Given the description of an element on the screen output the (x, y) to click on. 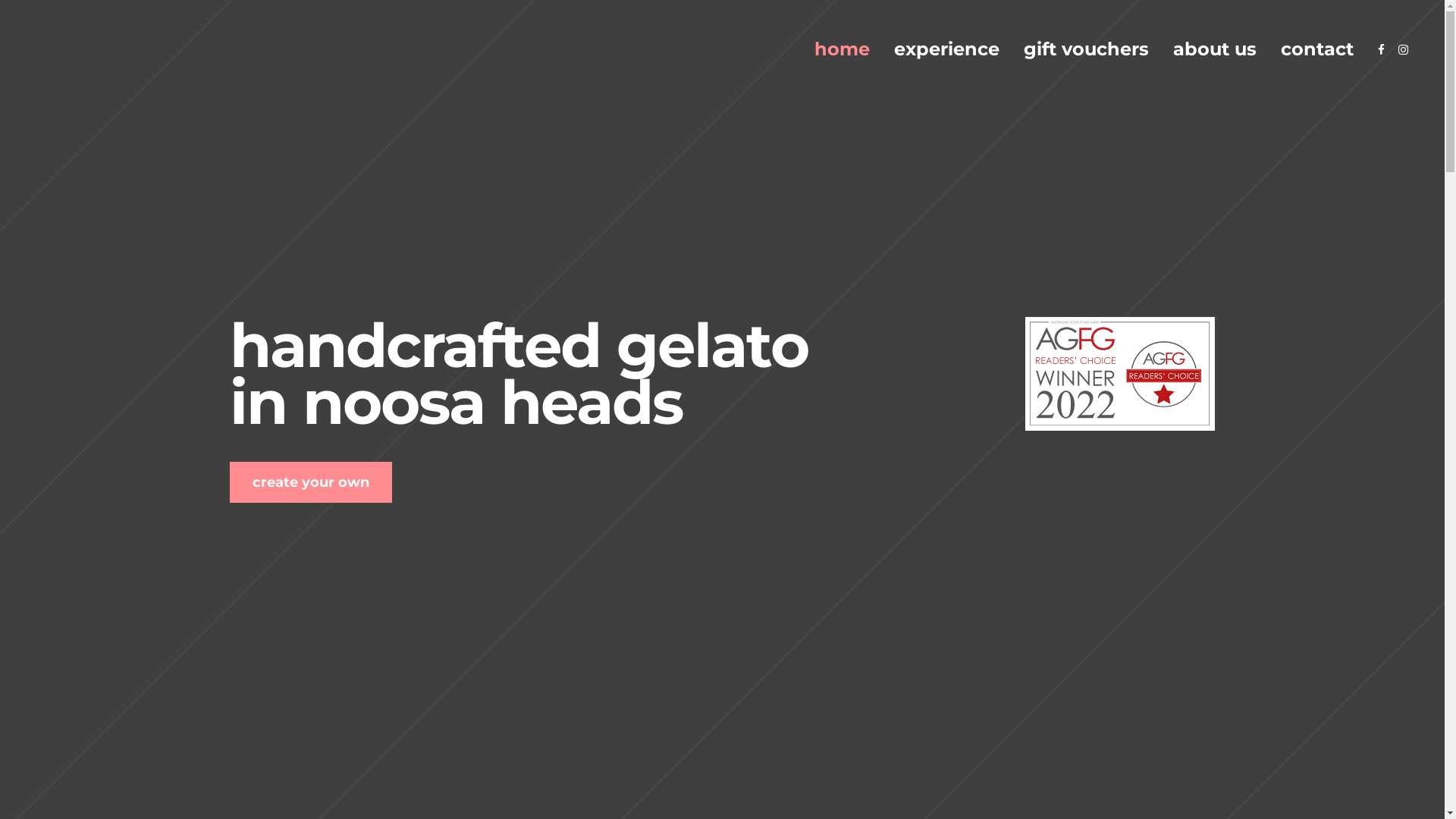
gift vouchers Element type: text (1086, 49)
create your own Element type: text (310, 481)
experience Element type: text (946, 49)
about us Element type: text (1214, 49)
Readers' Choice 2022 Element type: hover (1119, 424)
contact Element type: text (1316, 49)
home Element type: text (841, 49)
